Given the description of an element on the screen output the (x, y) to click on. 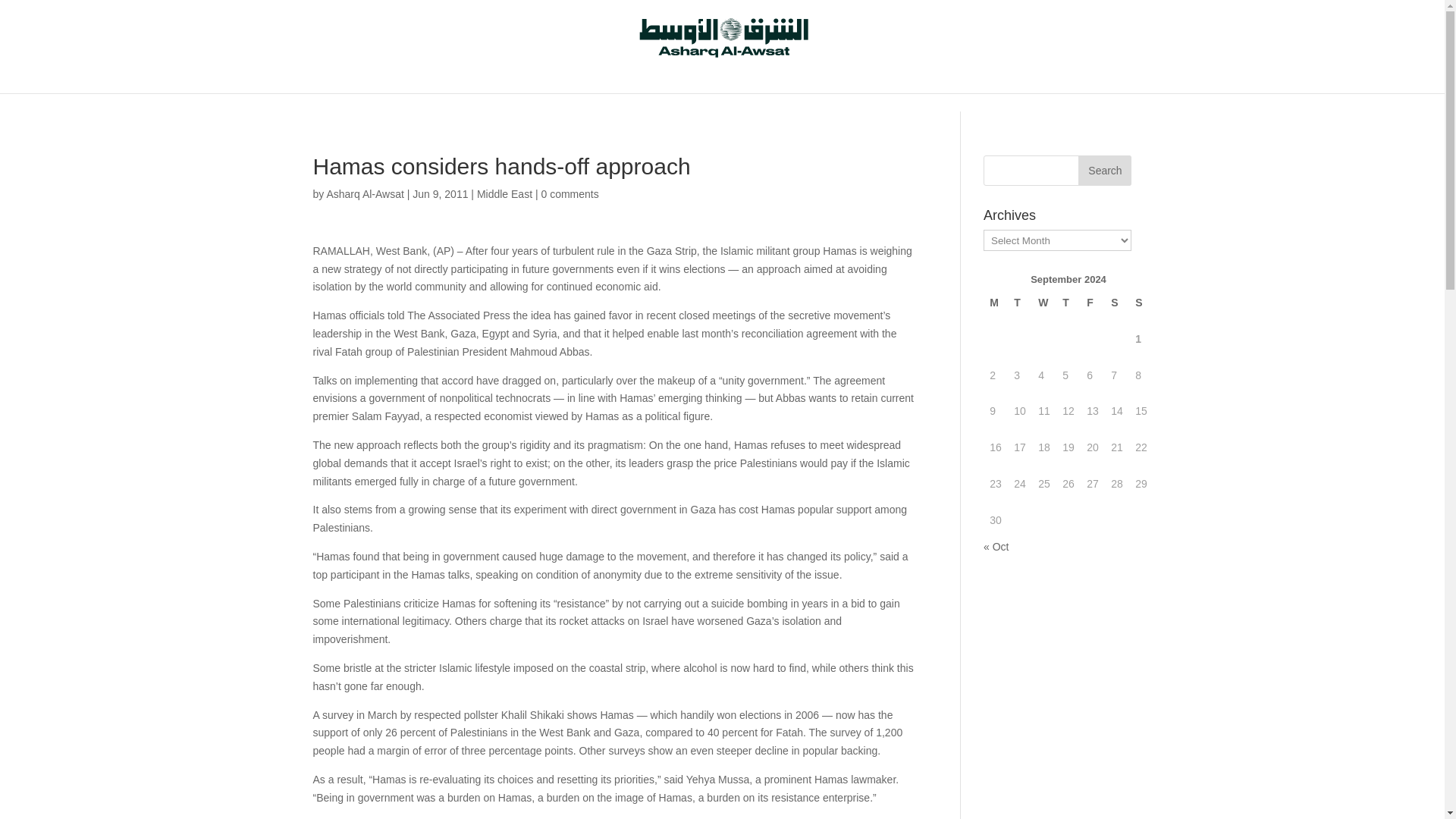
Search (1104, 170)
Asharq Al-Awsat (364, 193)
Posts by Asharq Al-Awsat (364, 193)
0 comments (569, 193)
Search (1104, 170)
Middle East (504, 193)
